Given the description of an element on the screen output the (x, y) to click on. 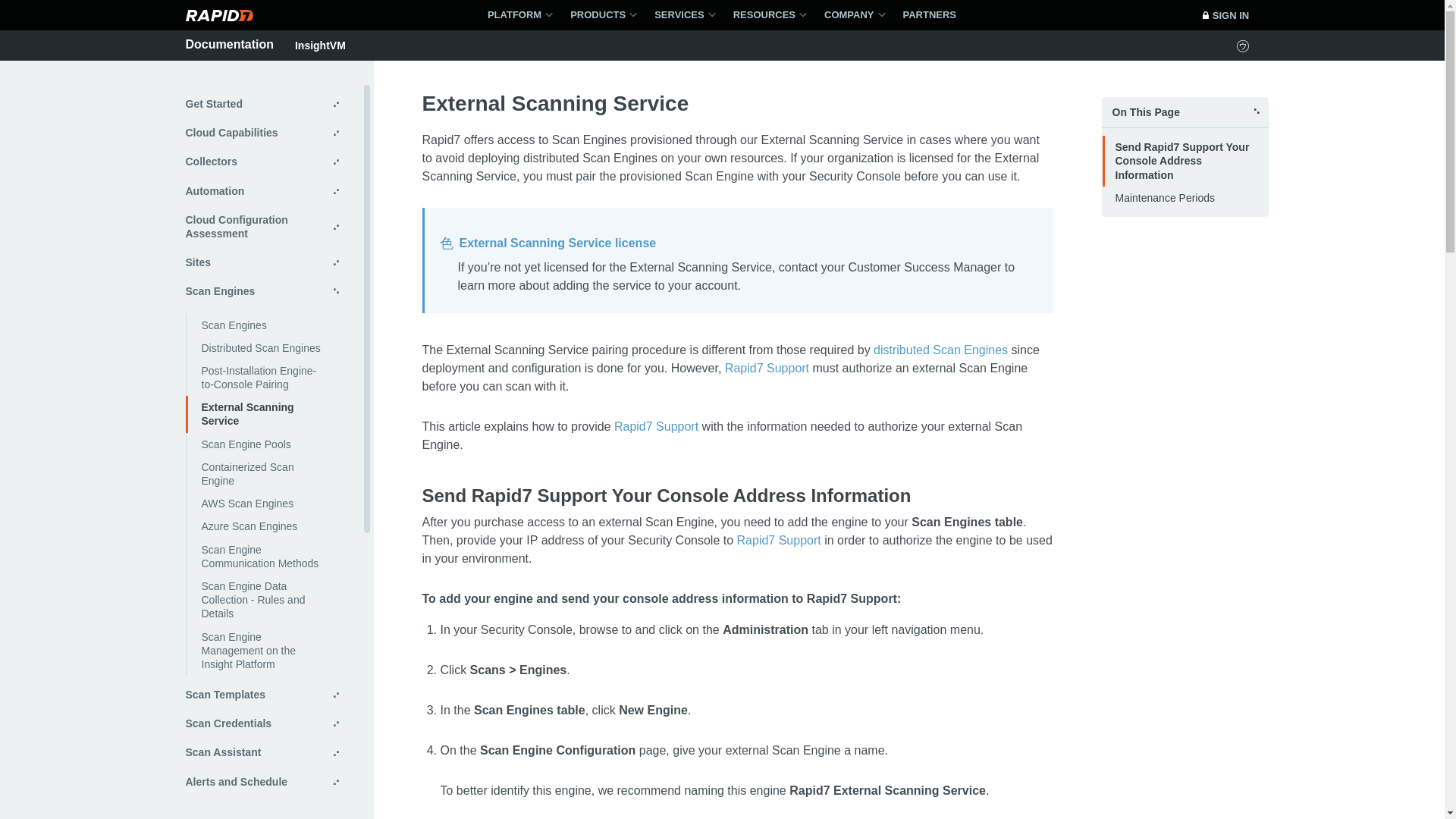
Close table of contents (1184, 112)
Search (909, 14)
Documentation (228, 43)
Search (909, 14)
